Given the description of an element on the screen output the (x, y) to click on. 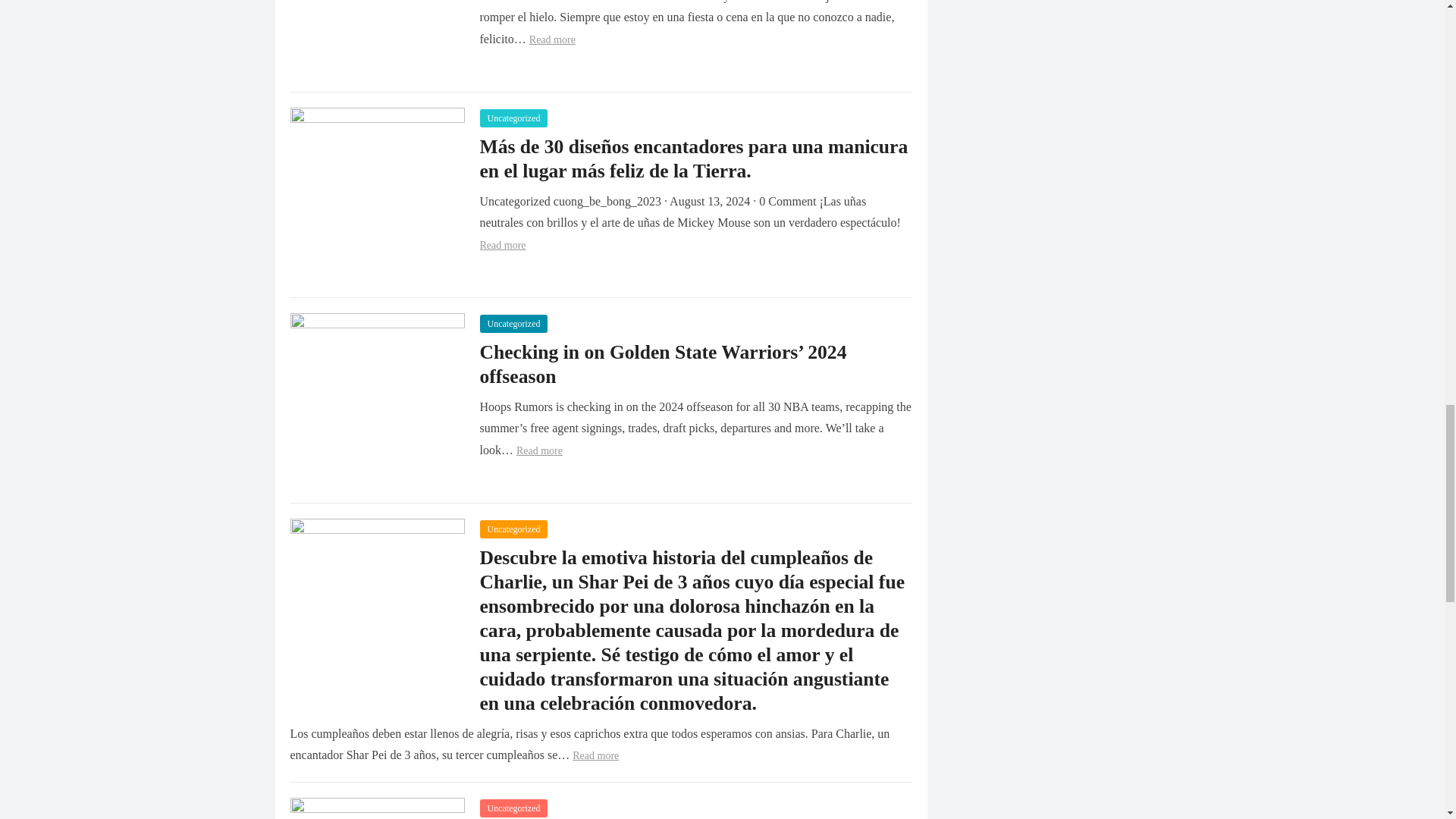
Uncategorized (513, 323)
Uncategorized (513, 117)
Read more (502, 244)
Read more (539, 450)
Uncategorized (513, 808)
Read more (595, 755)
Read more (552, 39)
Uncategorized (513, 529)
